Given the description of an element on the screen output the (x, y) to click on. 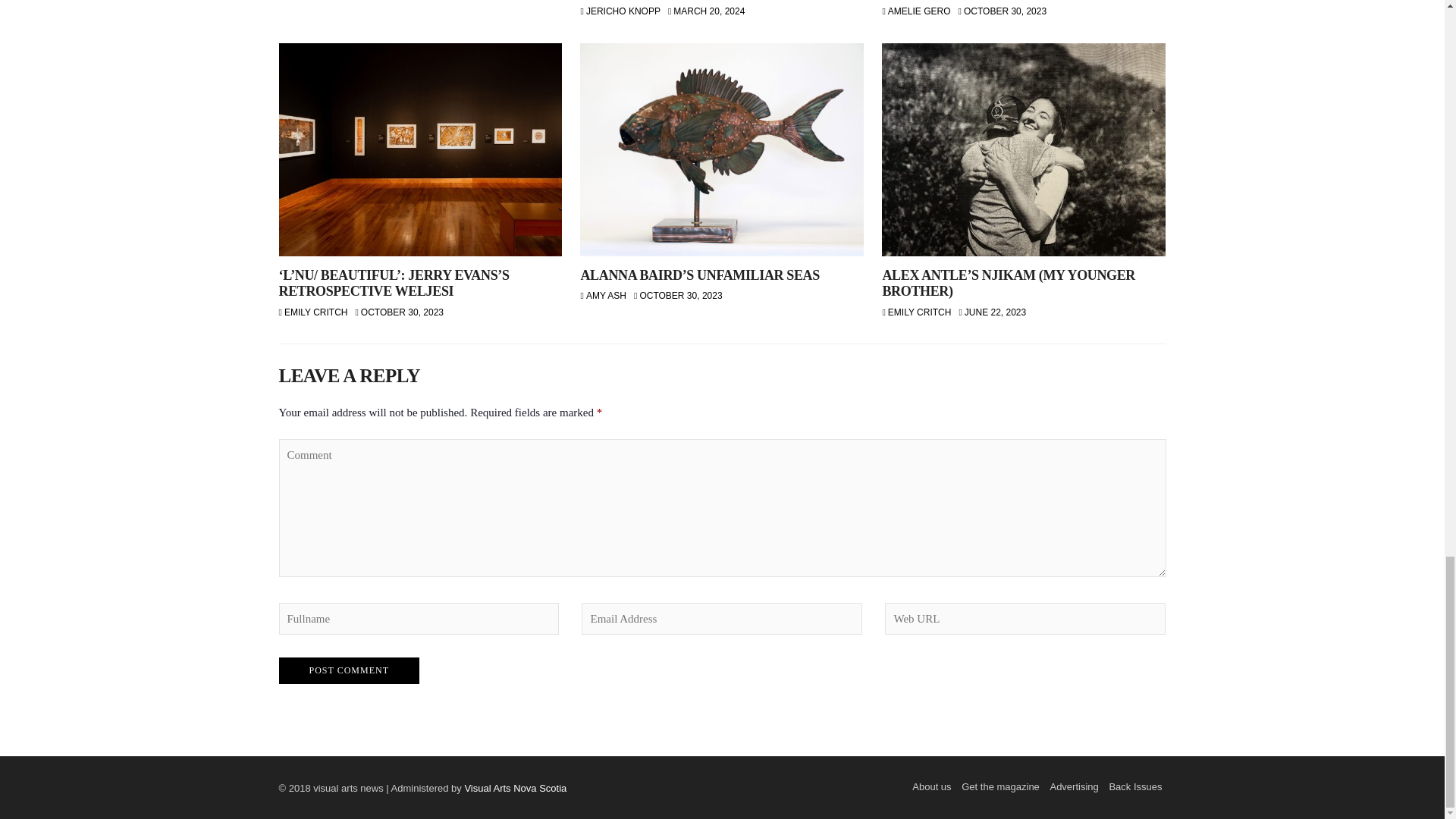
Post Comment (349, 670)
